Given the description of an element on the screen output the (x, y) to click on. 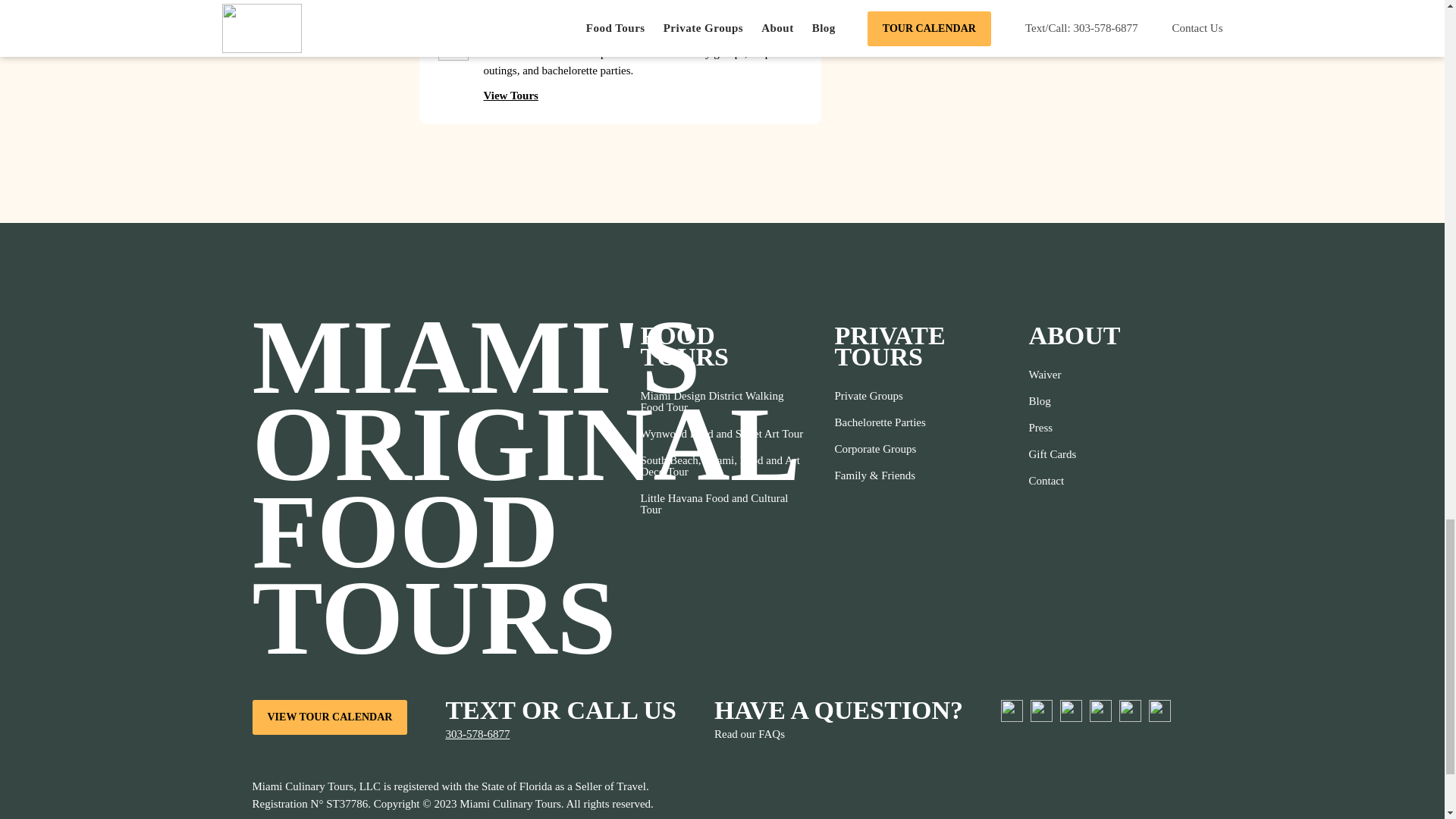
Press (1051, 427)
Corporate Groups (879, 448)
Little Havana Food and Cultural Tour (721, 504)
VIEW TOUR CALENDAR (329, 717)
View Tours (518, 95)
Waiver (1051, 374)
Bachelorette Parties (879, 422)
Blog (1051, 401)
Wynwood Food and Street Art Tour (721, 433)
South Beach, Miami, Food and Art Deco Tour (721, 466)
